Given the description of an element on the screen output the (x, y) to click on. 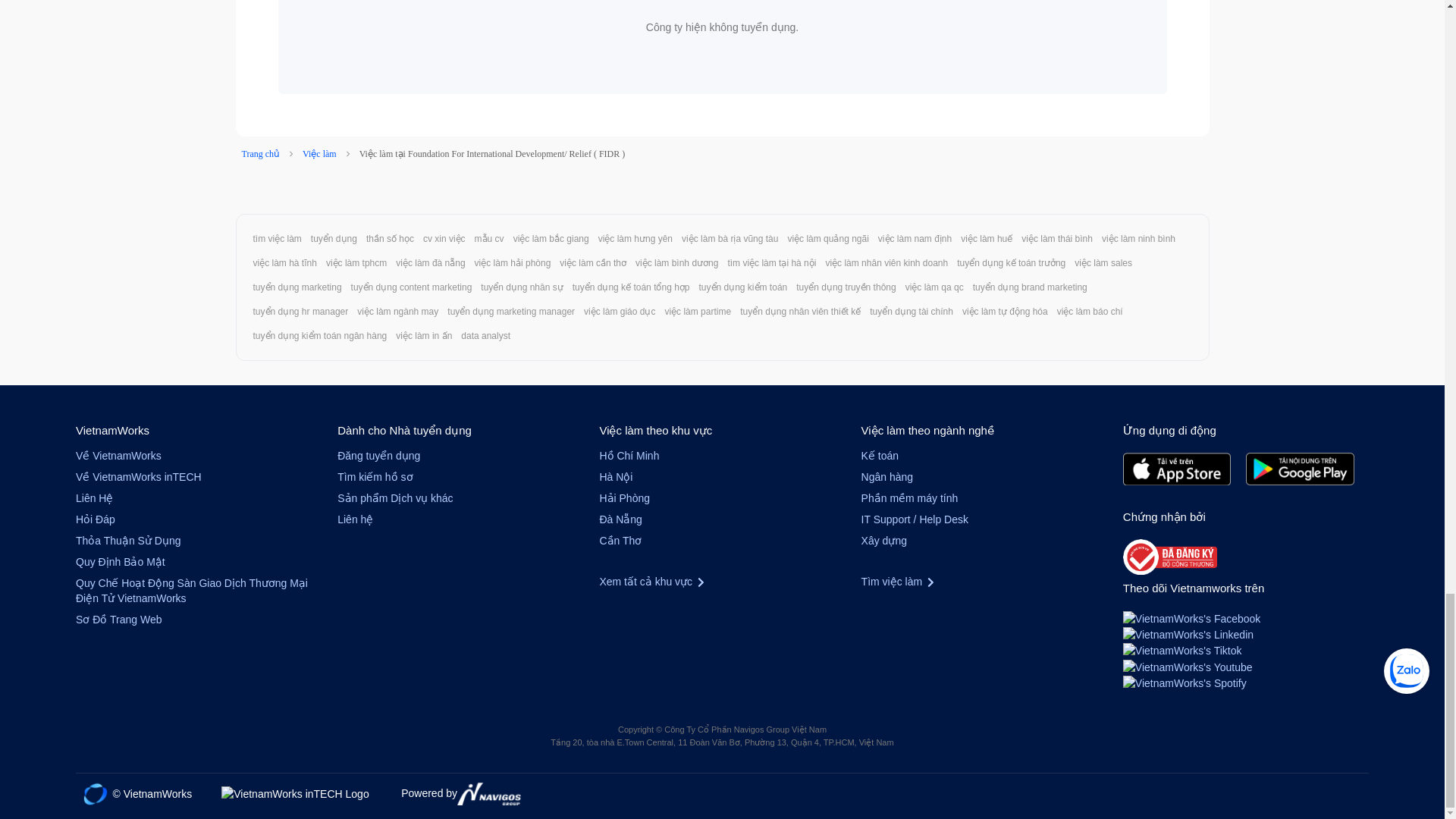
VietnamWorks's Linkedin (1187, 633)
VietnamWorks's Facebook (1191, 617)
VietnamWorks's Tiktok (1181, 649)
